Given the description of an element on the screen output the (x, y) to click on. 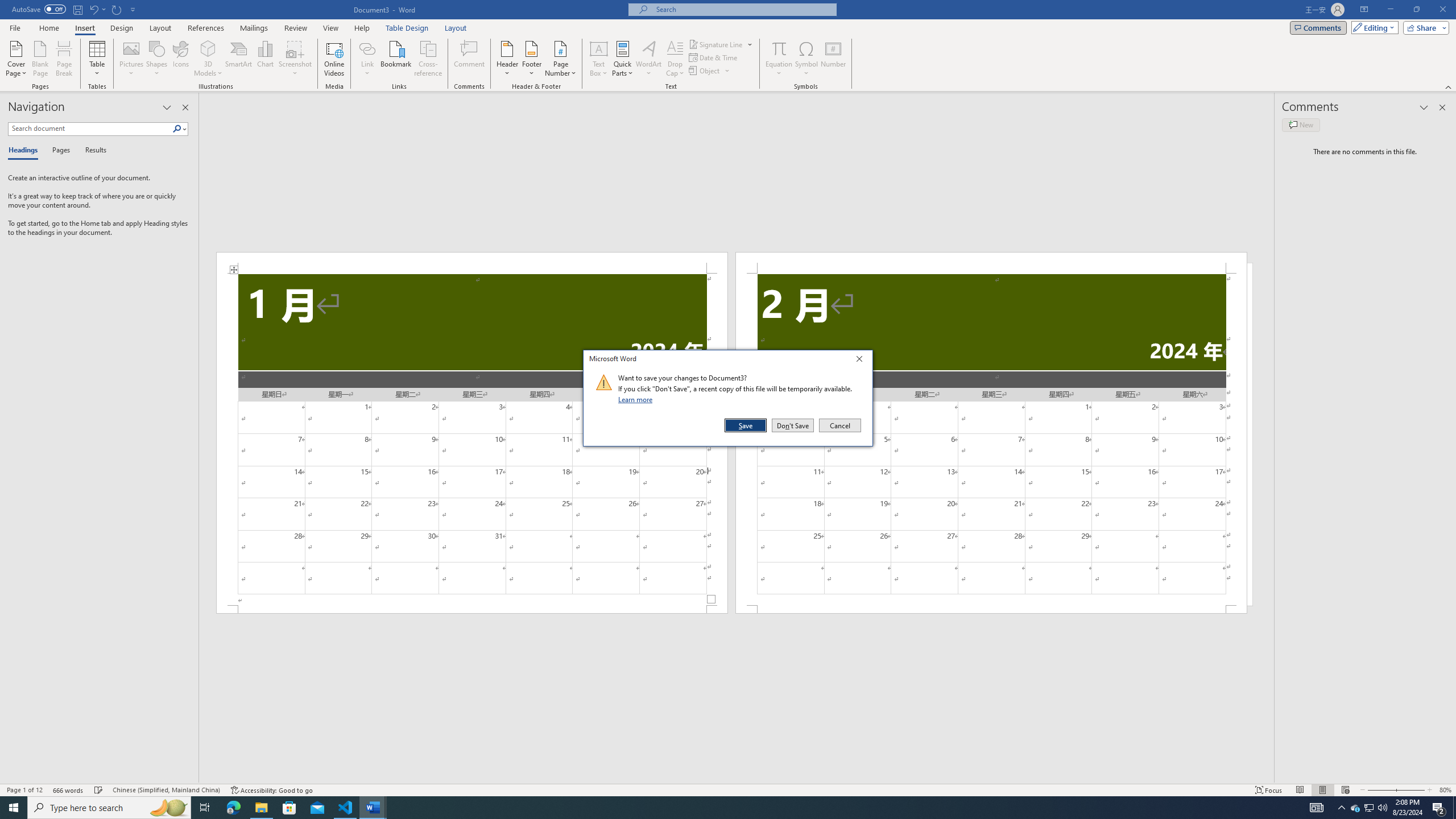
Table Design (407, 28)
